Given the description of an element on the screen output the (x, y) to click on. 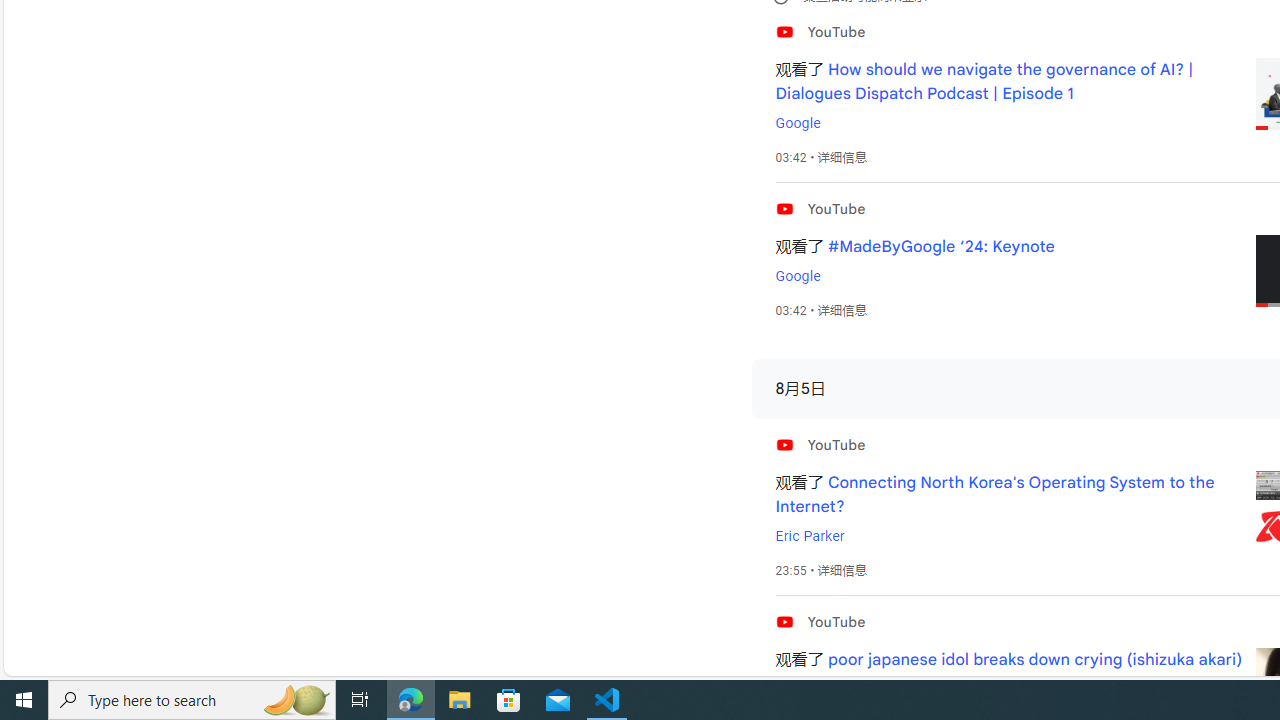
Connecting North Korea's Operating System to the Internet? (994, 494)
poor japanese idol breaks down crying (ishizuka akari) (1035, 660)
Eric Parker (809, 536)
